Given the description of an element on the screen output the (x, y) to click on. 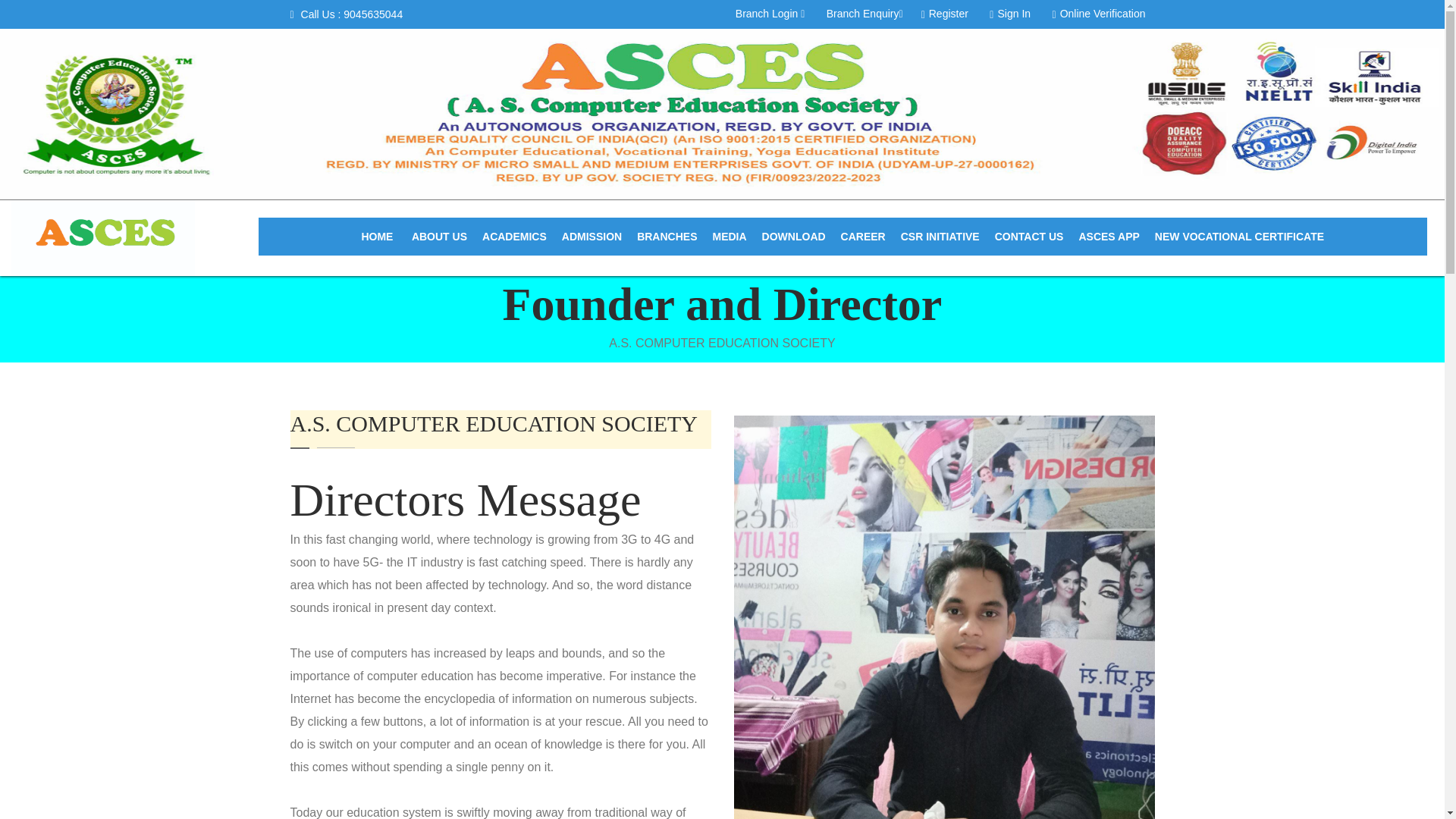
BRANCHES (666, 236)
Branch Enquiry (864, 12)
DOWNLOAD (793, 236)
ACADEMICS (514, 236)
HOME (376, 236)
ABOUT US (439, 236)
Register (944, 12)
Sign In (1009, 12)
ADMISSION (591, 236)
Branch Login (769, 12)
